Given the description of an element on the screen output the (x, y) to click on. 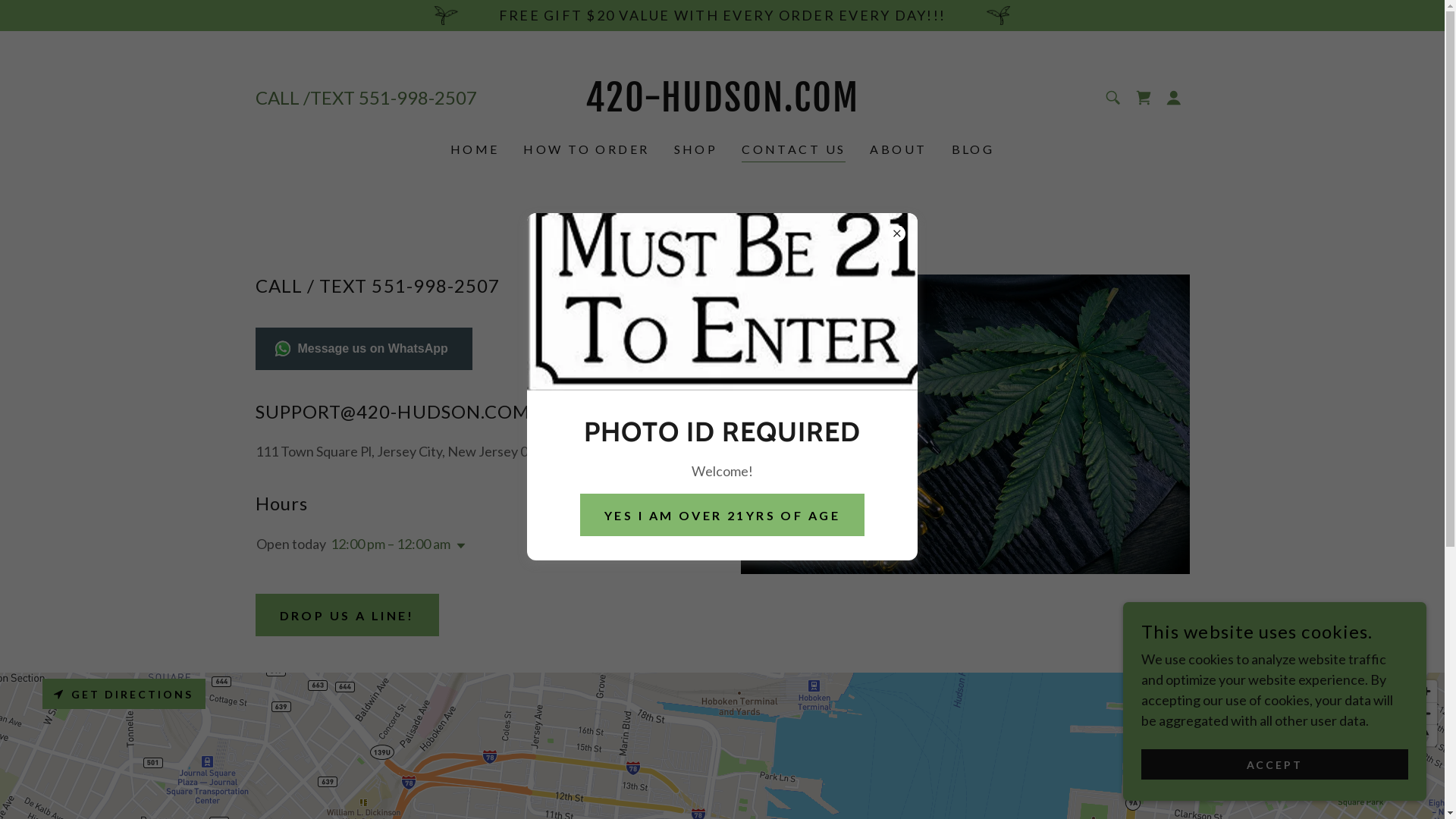
SHOP Element type: text (694, 149)
HOME Element type: text (474, 149)
HOW TO ORDER Element type: text (585, 149)
ACCEPT Element type: text (1274, 764)
420-HUDSON.COM Element type: text (722, 105)
BLOG Element type: text (973, 149)
551-998-2507 Element type: text (416, 97)
Zoom out Element type: hover (1426, 713)
Message us on WhatsApp Element type: text (362, 348)
Zoom in Element type: hover (1426, 691)
YES I AM OVER 21YRS OF AGE Element type: text (722, 514)
GET DIRECTIONS Element type: text (123, 693)
ABOUT Element type: text (898, 149)
DROP US A LINE! Element type: text (346, 614)
CONTACT US Element type: text (793, 151)
Reset bearing to north Element type: hover (1426, 735)
